Given the description of an element on the screen output the (x, y) to click on. 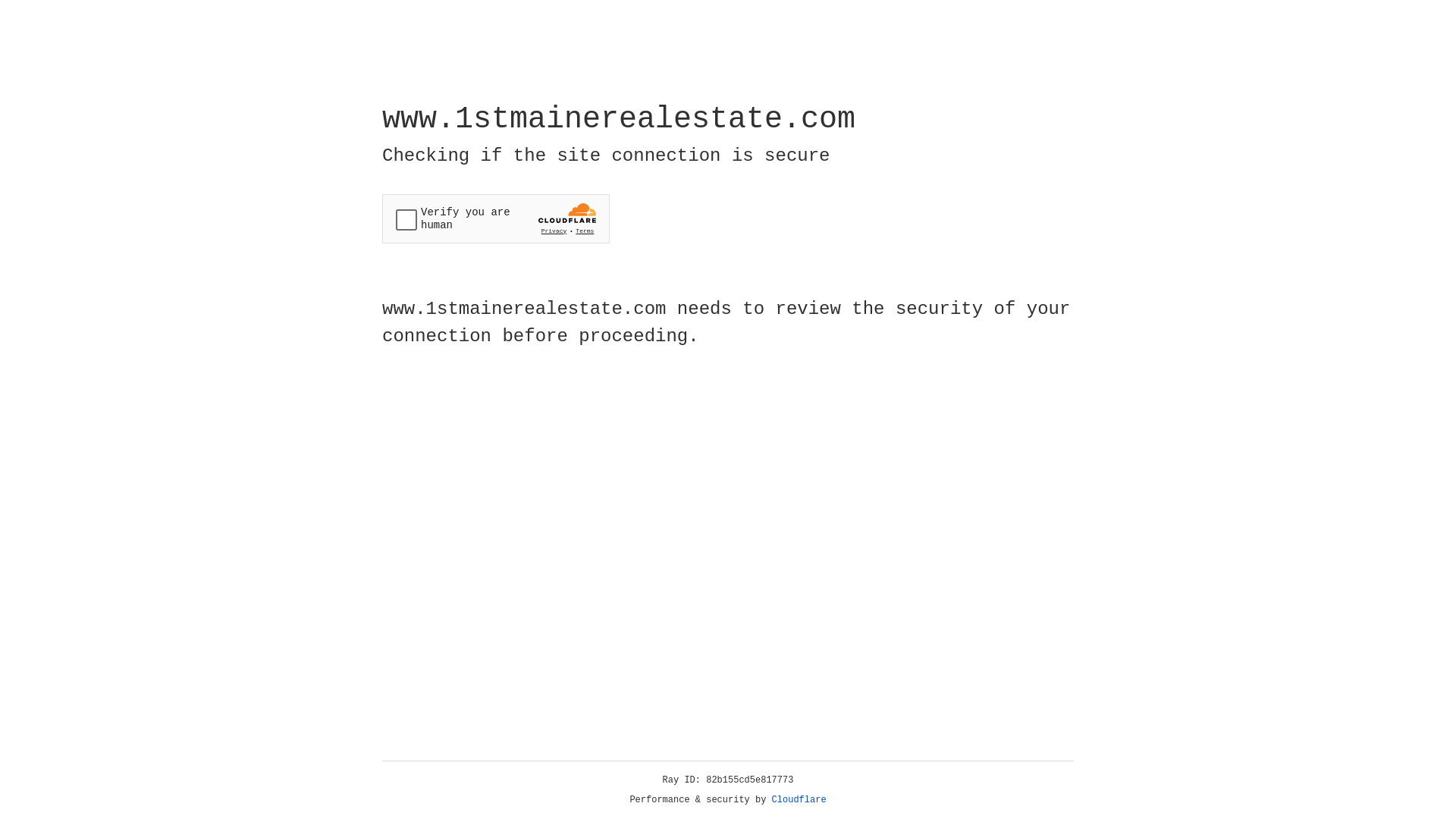
Cloudflare Element type: text (798, 799)
Widget containing a Cloudflare security challenge Element type: hover (495, 218)
